Given the description of an element on the screen output the (x, y) to click on. 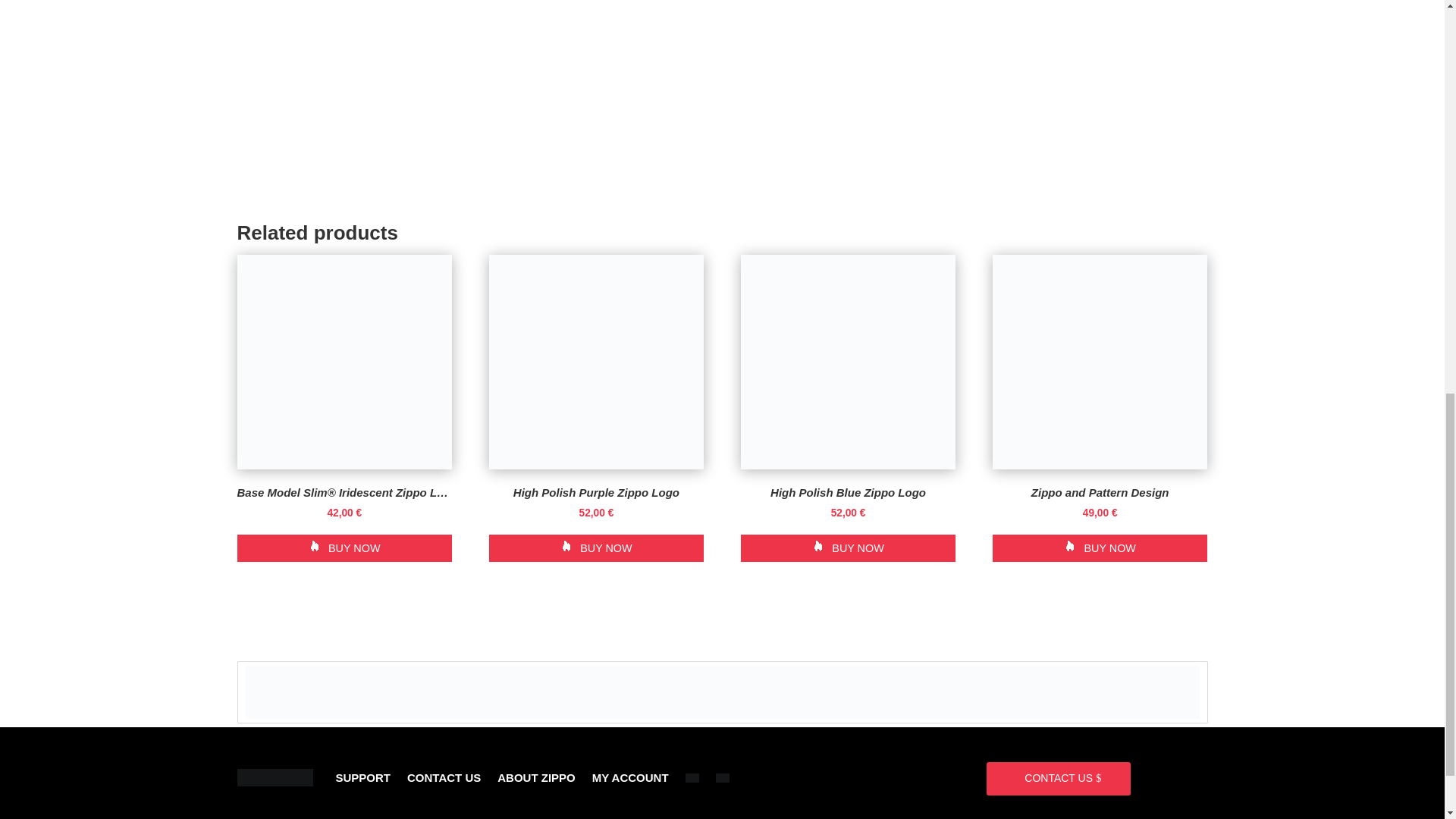
ikone- karticno-placanje (722, 692)
